Given the description of an element on the screen output the (x, y) to click on. 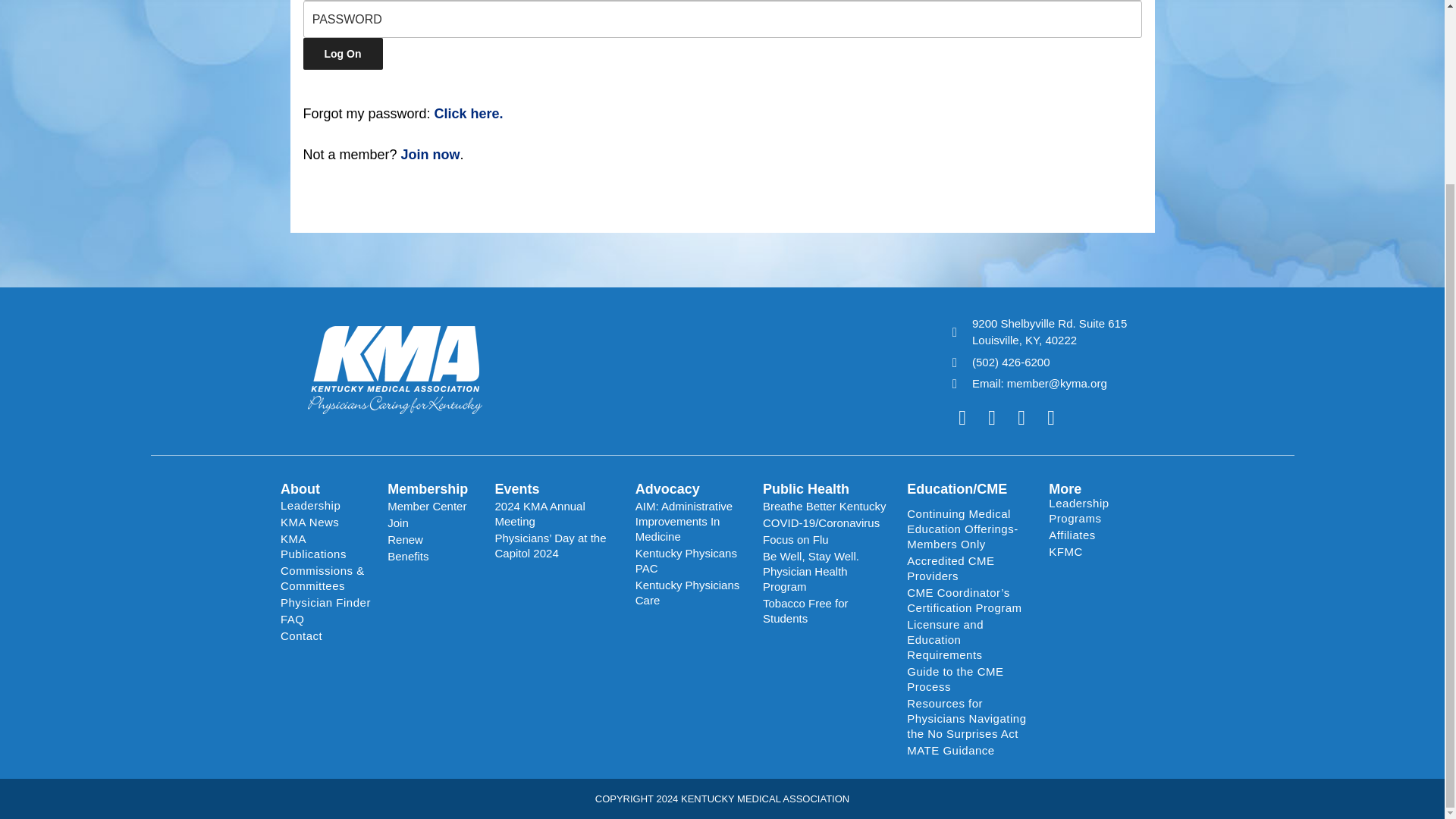
Renew (433, 539)
Benefits (433, 556)
Log On (342, 53)
KMA News (326, 522)
Join now (430, 154)
FAQ (326, 619)
Member Center (433, 506)
Log On (342, 53)
About (300, 488)
Contact (326, 636)
KMA Publications (326, 546)
Physician Finder (326, 602)
Membership (427, 488)
Click here. (468, 113)
Join (433, 523)
